Given the description of an element on the screen output the (x, y) to click on. 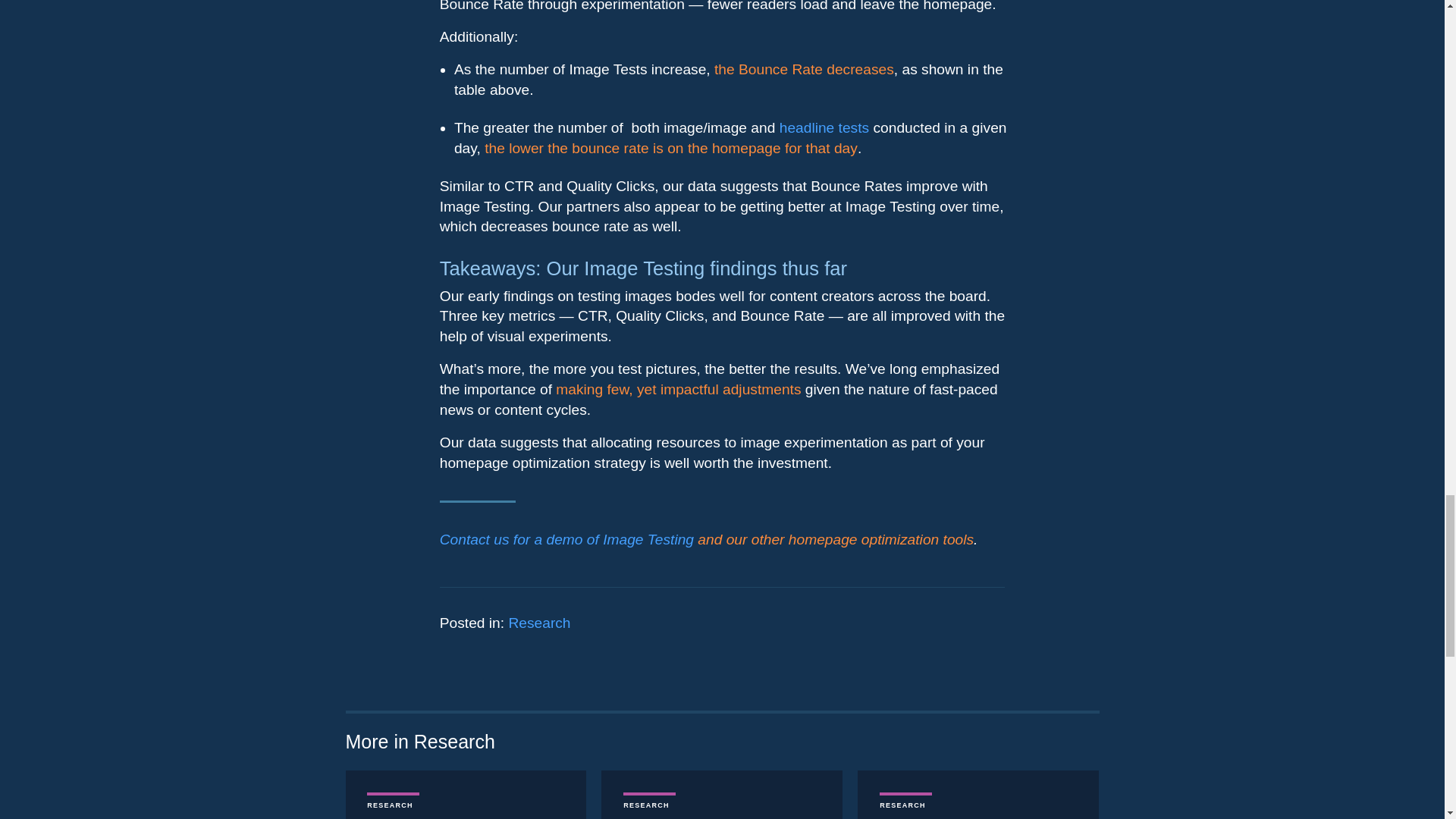
headline tests (823, 127)
Contact us for a demo of Image Testing (566, 539)
Research (539, 622)
